Given the description of an element on the screen output the (x, y) to click on. 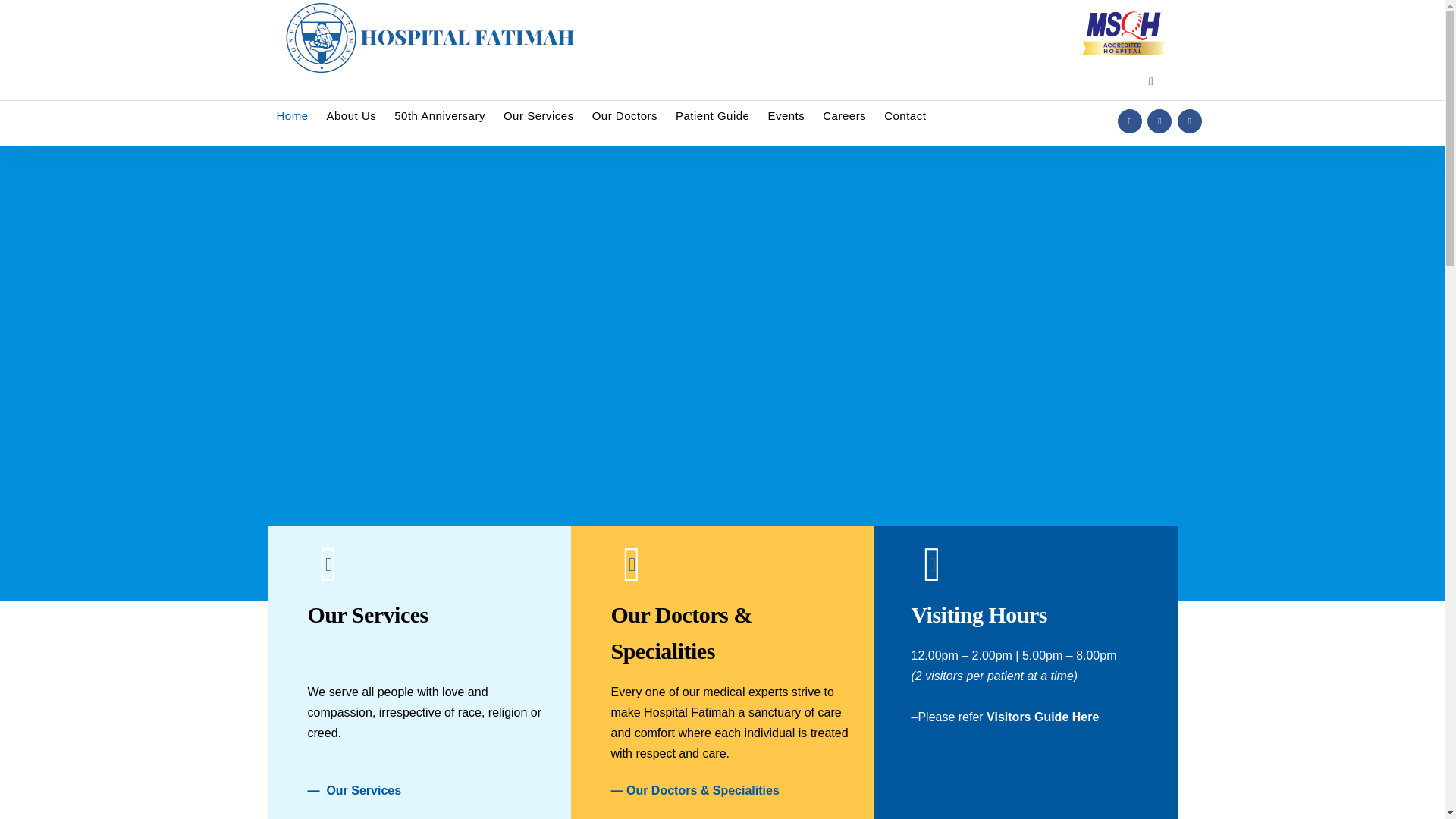
50th Anniversary (440, 115)
Our Services (539, 115)
About Us (351, 115)
Our Doctors (624, 115)
